Given the description of an element on the screen output the (x, y) to click on. 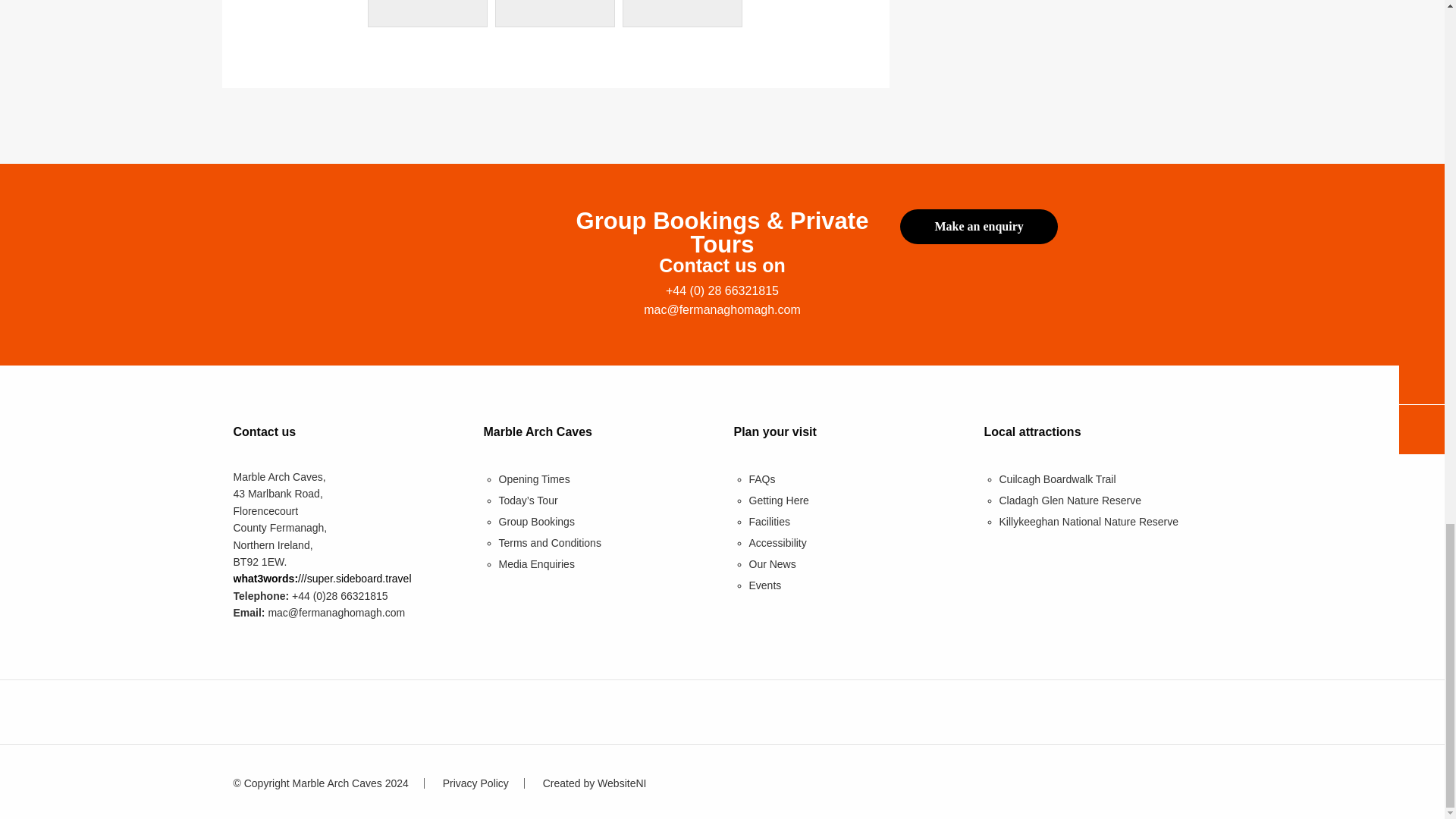
Make a booking (978, 226)
Privacy Policy (475, 783)
web design Belfast (594, 783)
